Given the description of an element on the screen output the (x, y) to click on. 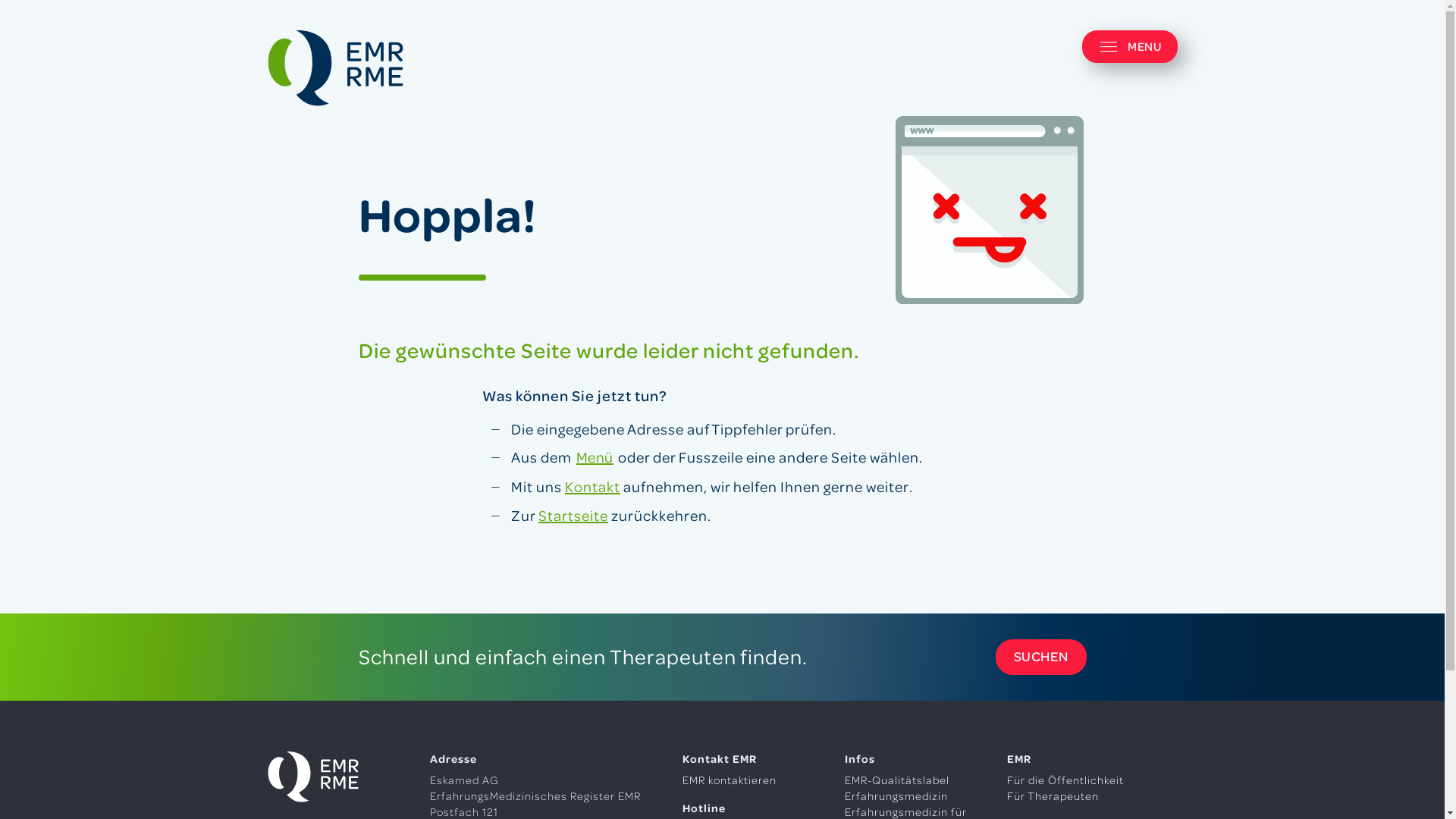
Wegweiser Element type: text (873, 798)
EMR kontaktieren Element type: text (729, 736)
MENU Element type: text (1129, 46)
SUCHEN Element type: text (1040, 613)
Erfahrungsmedizin Element type: text (895, 751)
Jobs beim EMR Element type: text (1047, 798)
Kontakt Element type: text (592, 443)
Startseite Element type: text (573, 471)
